Given the description of an element on the screen output the (x, y) to click on. 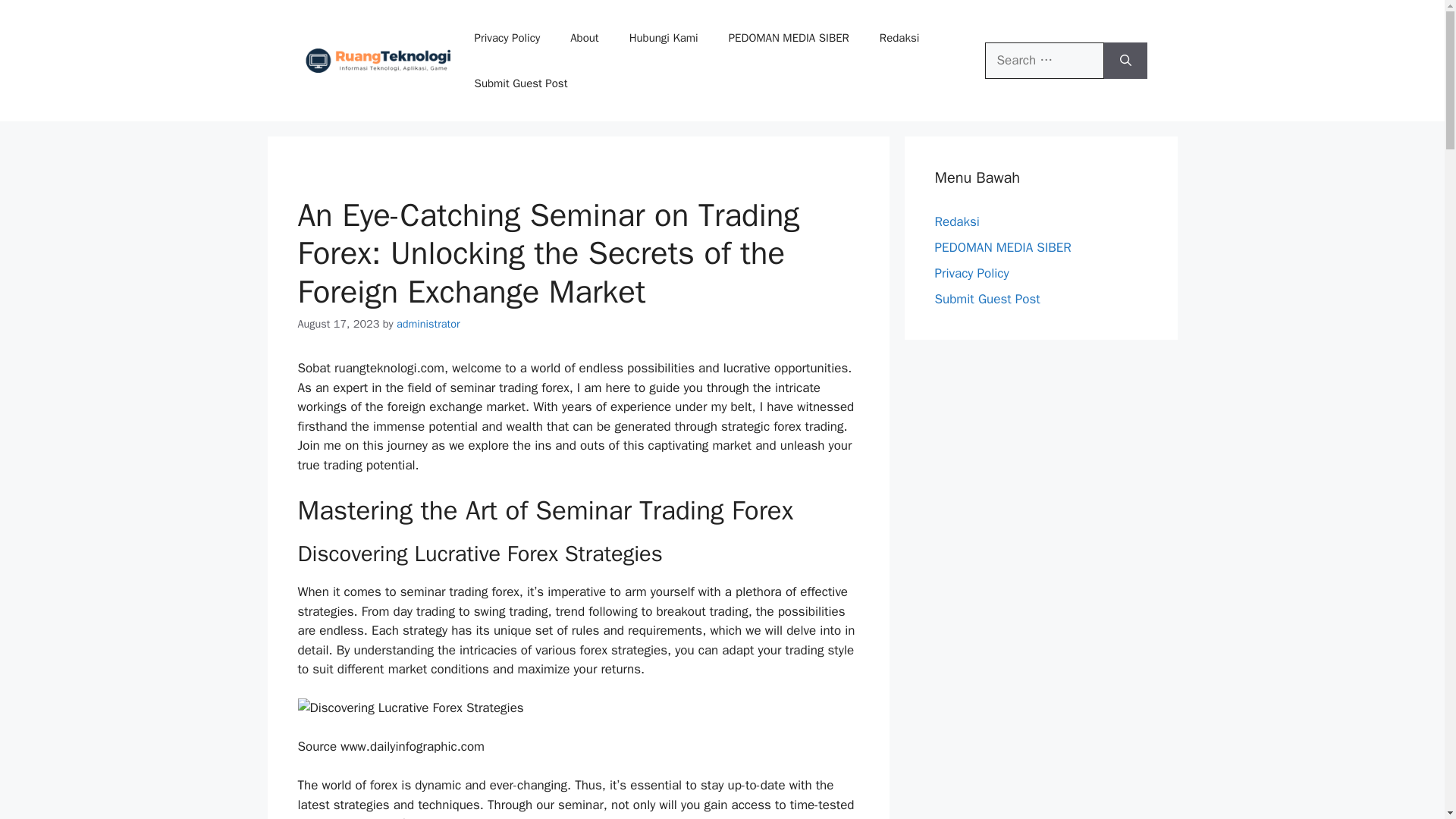
PEDOMAN MEDIA SIBER (788, 37)
Hubungi Kami (663, 37)
View all posts by administrator (428, 323)
Redaksi (899, 37)
administrator (428, 323)
Privacy Policy (508, 37)
About (583, 37)
Search for: (1044, 60)
Submit Guest Post (521, 83)
